Given the description of an element on the screen output the (x, y) to click on. 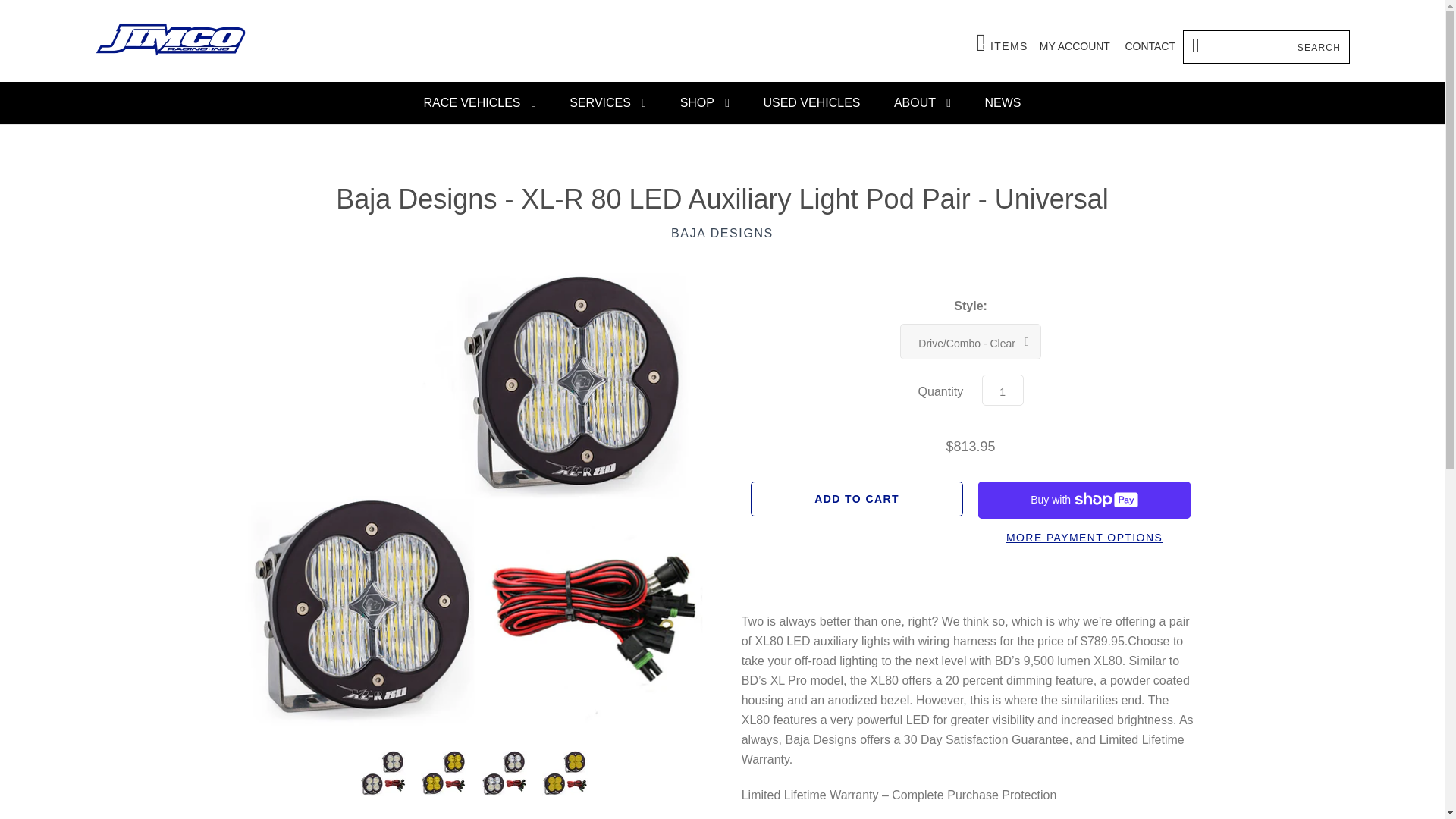
SHOP (704, 102)
SERVICES (607, 102)
RACE VEHICLES (478, 102)
Add to cart (856, 497)
1 (1001, 42)
CONTACT (1002, 389)
MY ACCOUNT (1149, 46)
